Given the description of an element on the screen output the (x, y) to click on. 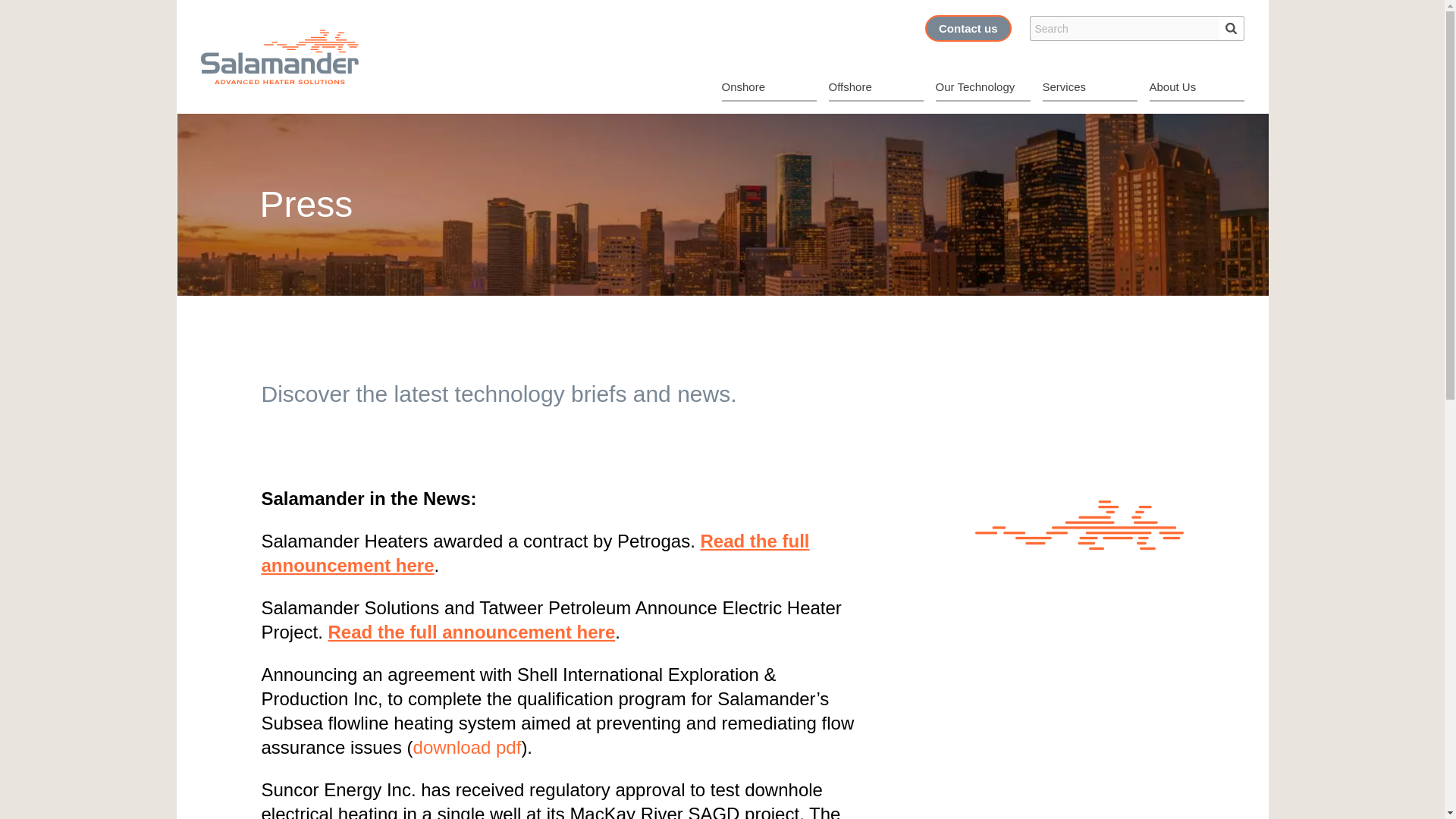
Search (1124, 27)
download pdf (467, 747)
Read the full announcement here (534, 552)
Submit (1232, 27)
Services (1089, 88)
Submit (1232, 27)
Onshore (769, 88)
Submit (1232, 27)
Offshore (875, 88)
About Us (1197, 88)
